Given the description of an element on the screen output the (x, y) to click on. 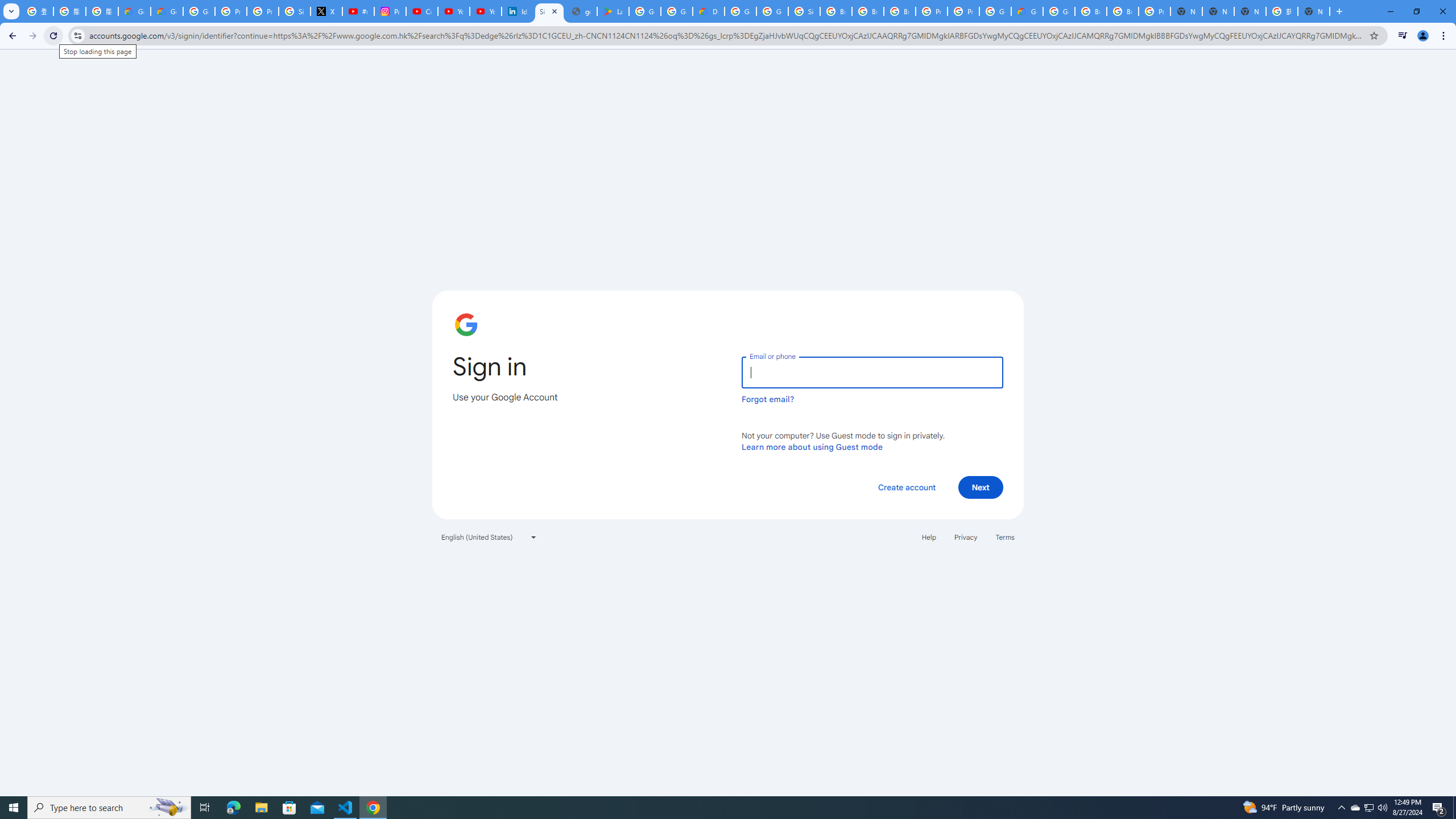
Google Cloud Platform (1059, 11)
Create account (905, 486)
X (326, 11)
Last Shelter: Survival - Apps on Google Play (613, 11)
Privacy Help Center - Policies Help (262, 11)
